Given the description of an element on the screen output the (x, y) to click on. 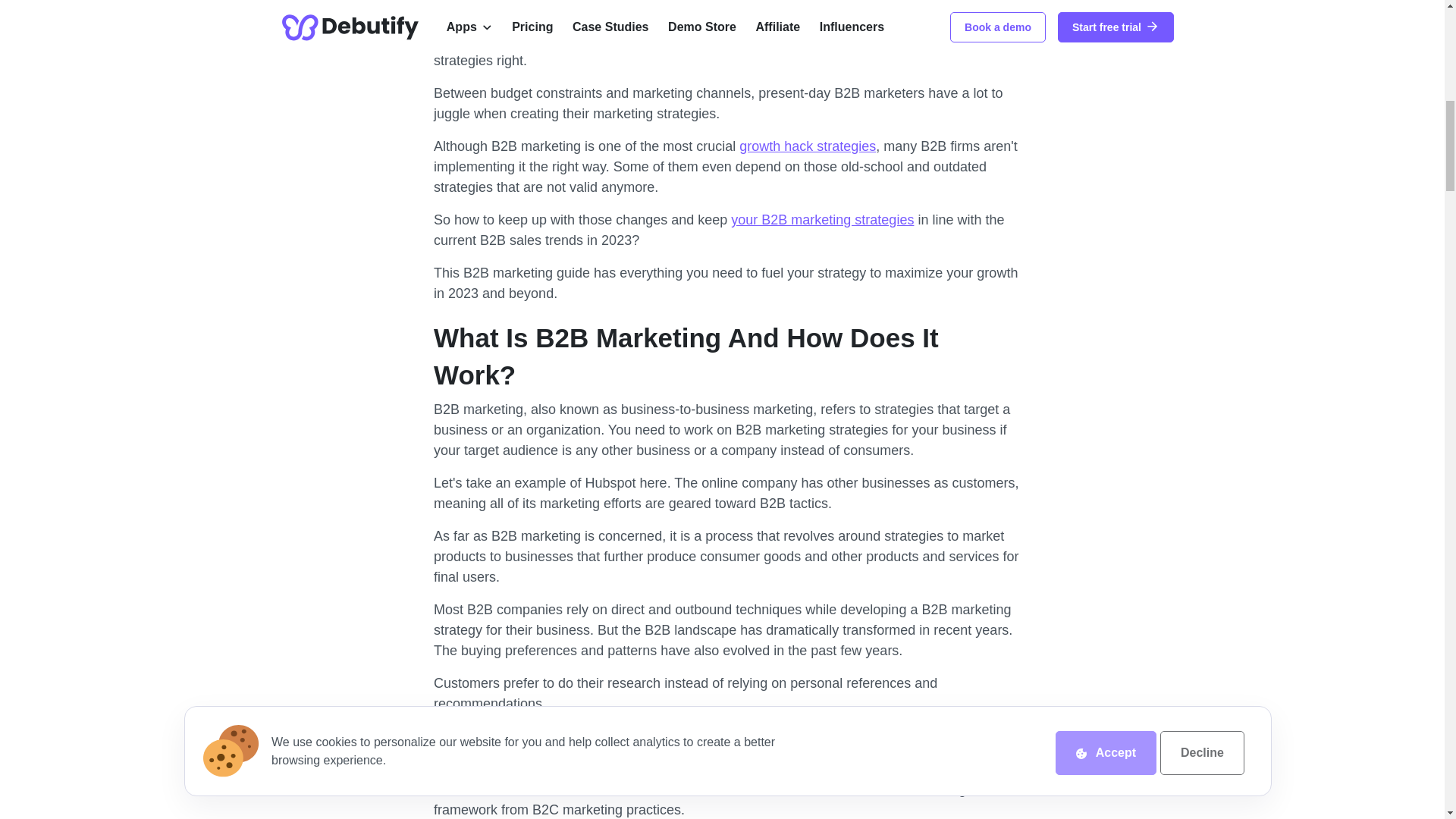
growth hack strategies (807, 145)
your B2B marketing strategies (822, 219)
